Given the description of an element on the screen output the (x, y) to click on. 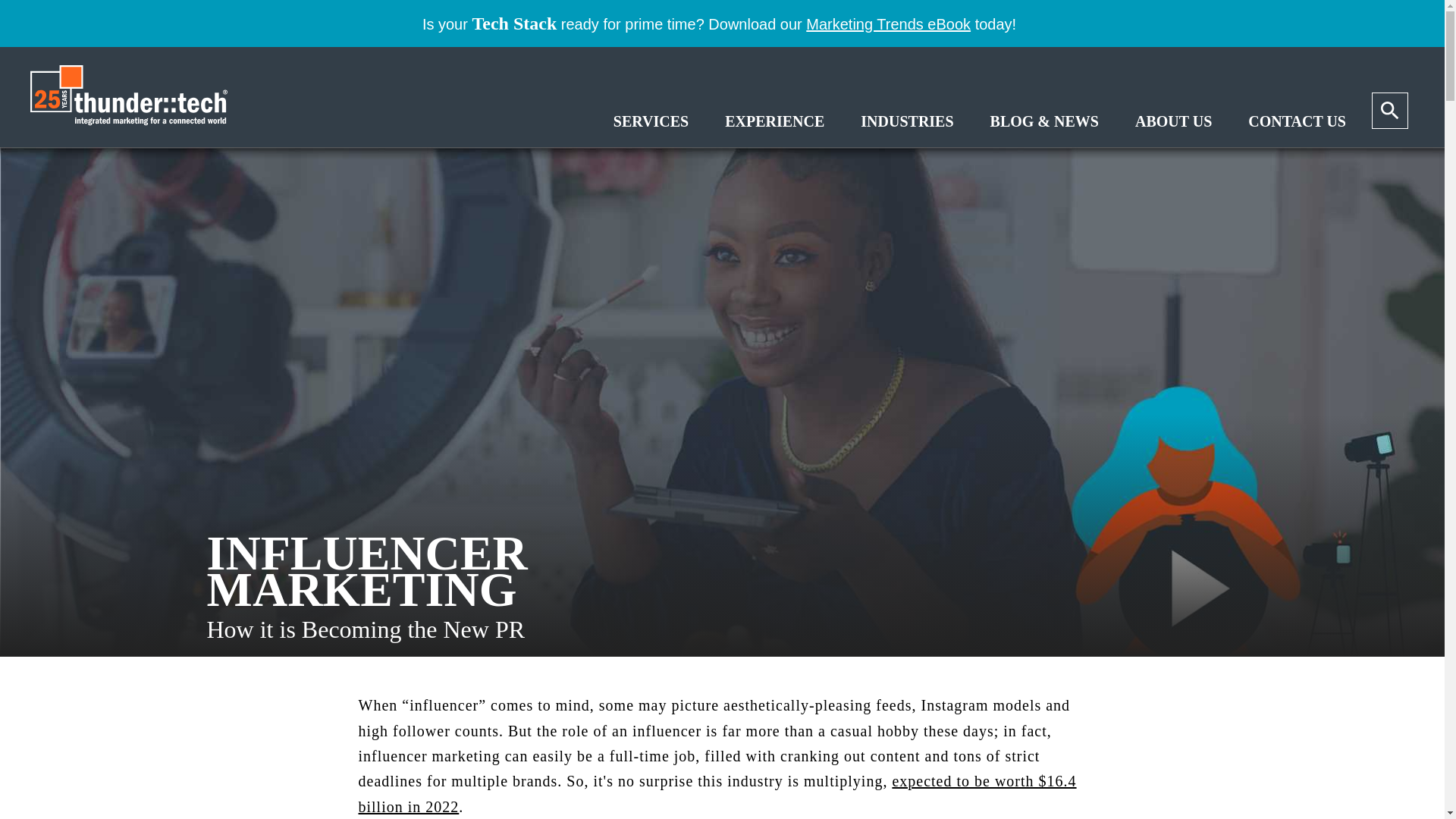
SERVICES (650, 120)
INDUSTRIES (907, 120)
EXPERIENCE (774, 120)
ABOUT US (1173, 120)
CONTACT US (1297, 120)
